Given the description of an element on the screen output the (x, y) to click on. 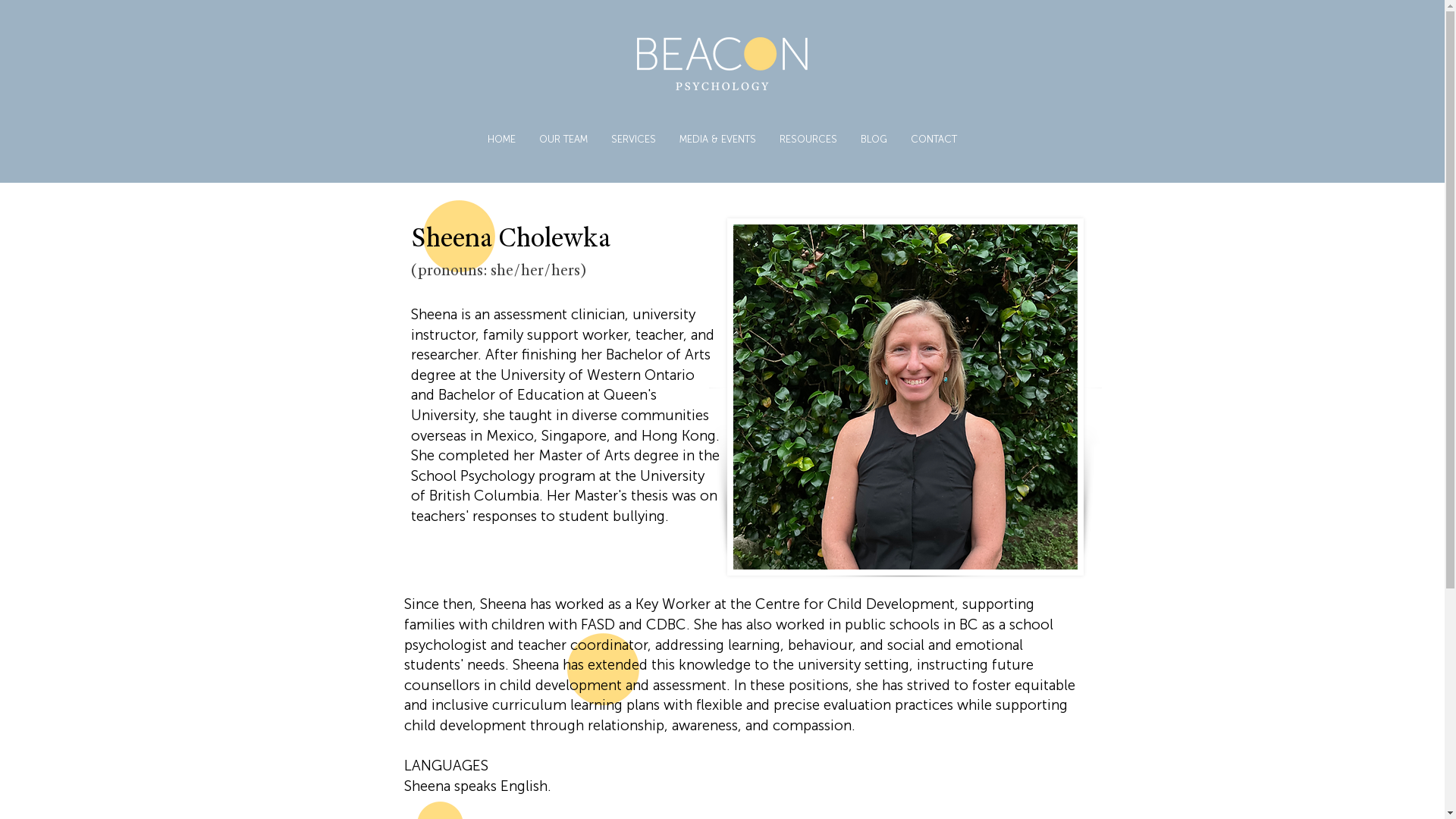
OUR TEAM Element type: text (563, 139)
CONTACT Element type: text (933, 139)
HOME Element type: text (501, 139)
BLOG Element type: text (873, 139)
